Given the description of an element on the screen output the (x, y) to click on. 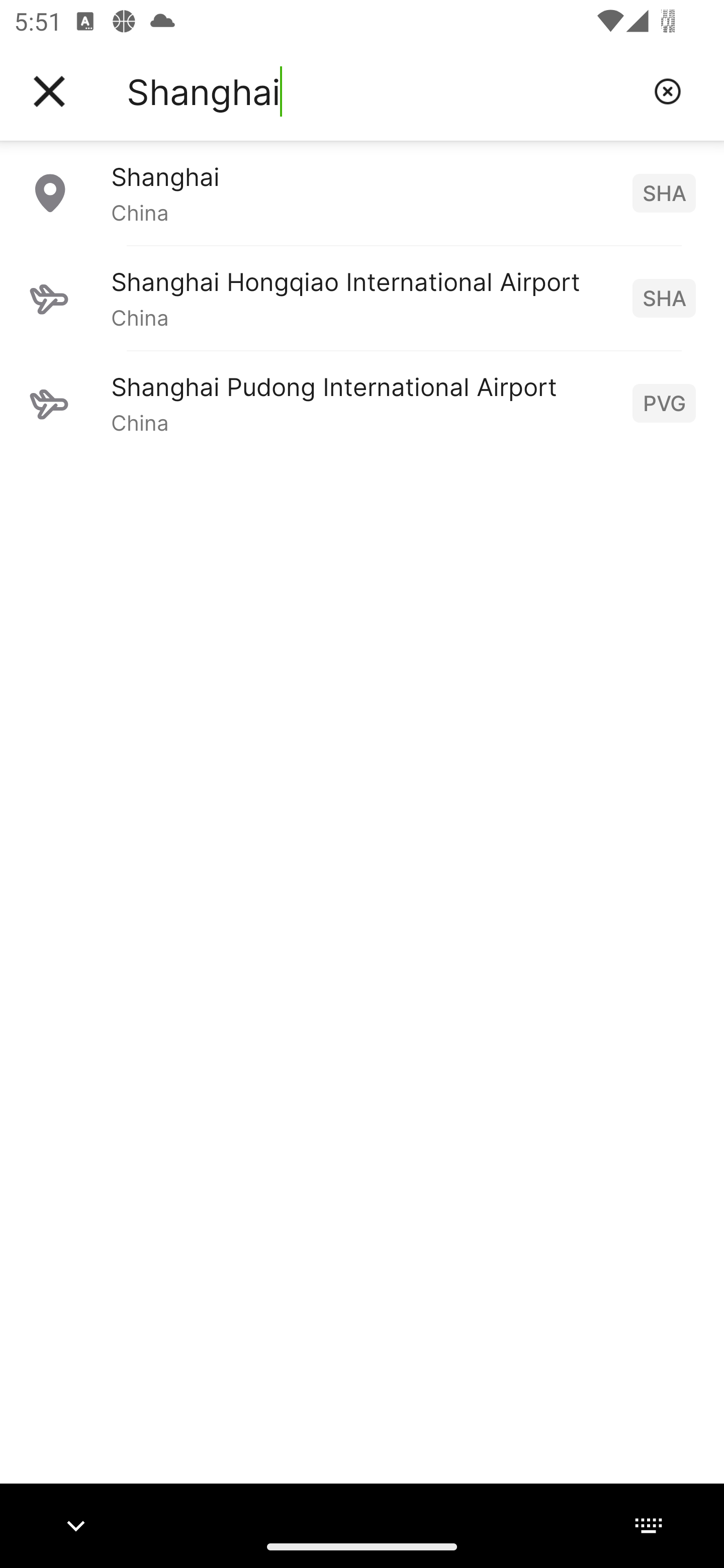
Shanghai (382, 91)
Shanghai China SHA (362, 192)
Shanghai Hongqiao International Airport China SHA (362, 297)
Shanghai Pudong International Airport China PVG (362, 402)
